Given the description of an element on the screen output the (x, y) to click on. 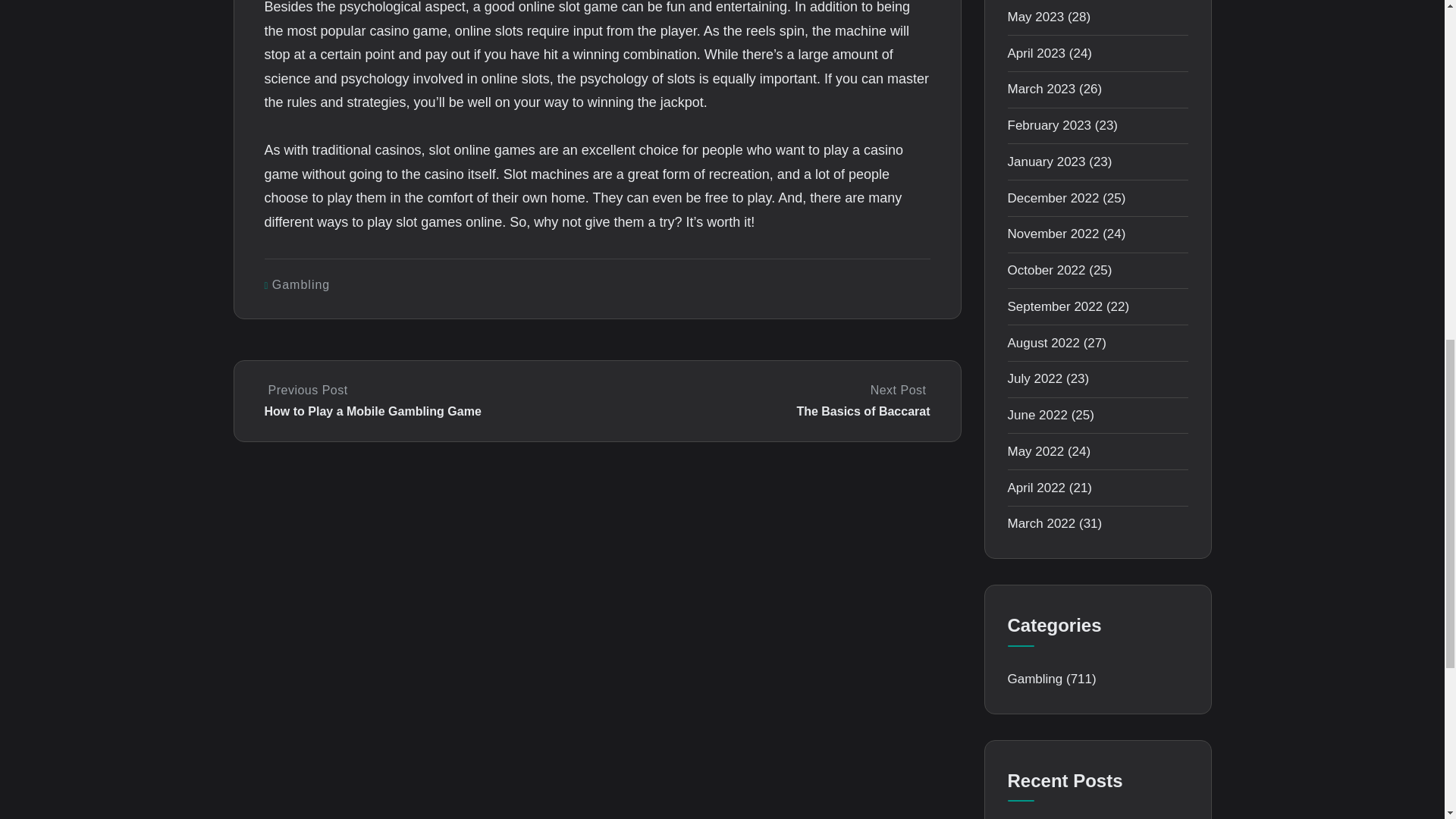
October 2022 (1045, 269)
May 2023 (1035, 16)
March 2023 (1041, 88)
July 2022 (1034, 378)
January 2023 (1045, 161)
February 2023 (1048, 124)
November 2022 (1053, 233)
September 2022 (1054, 306)
December 2022 (1053, 197)
April 2023 (1036, 52)
August 2022 (1042, 342)
Gambling (301, 284)
